Given the description of an element on the screen output the (x, y) to click on. 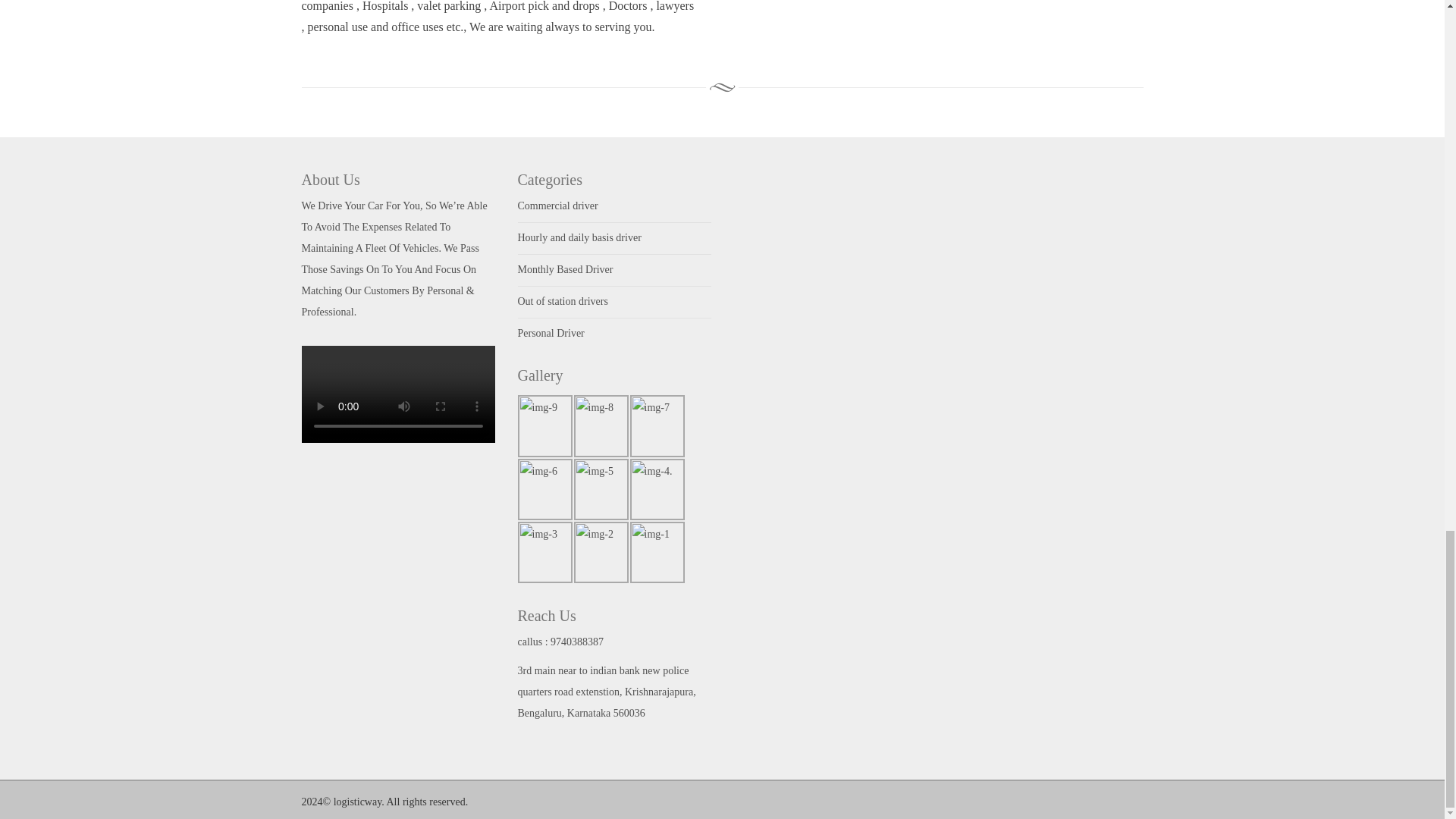
Commercial driver (556, 205)
Monthly Based Driver (564, 269)
Hourly and daily basis driver (578, 237)
Personal Driver (549, 333)
Out of station drivers (561, 301)
img-9 (544, 425)
img-7 (656, 425)
img-8 (600, 425)
img-5 (600, 489)
